Given the description of an element on the screen output the (x, y) to click on. 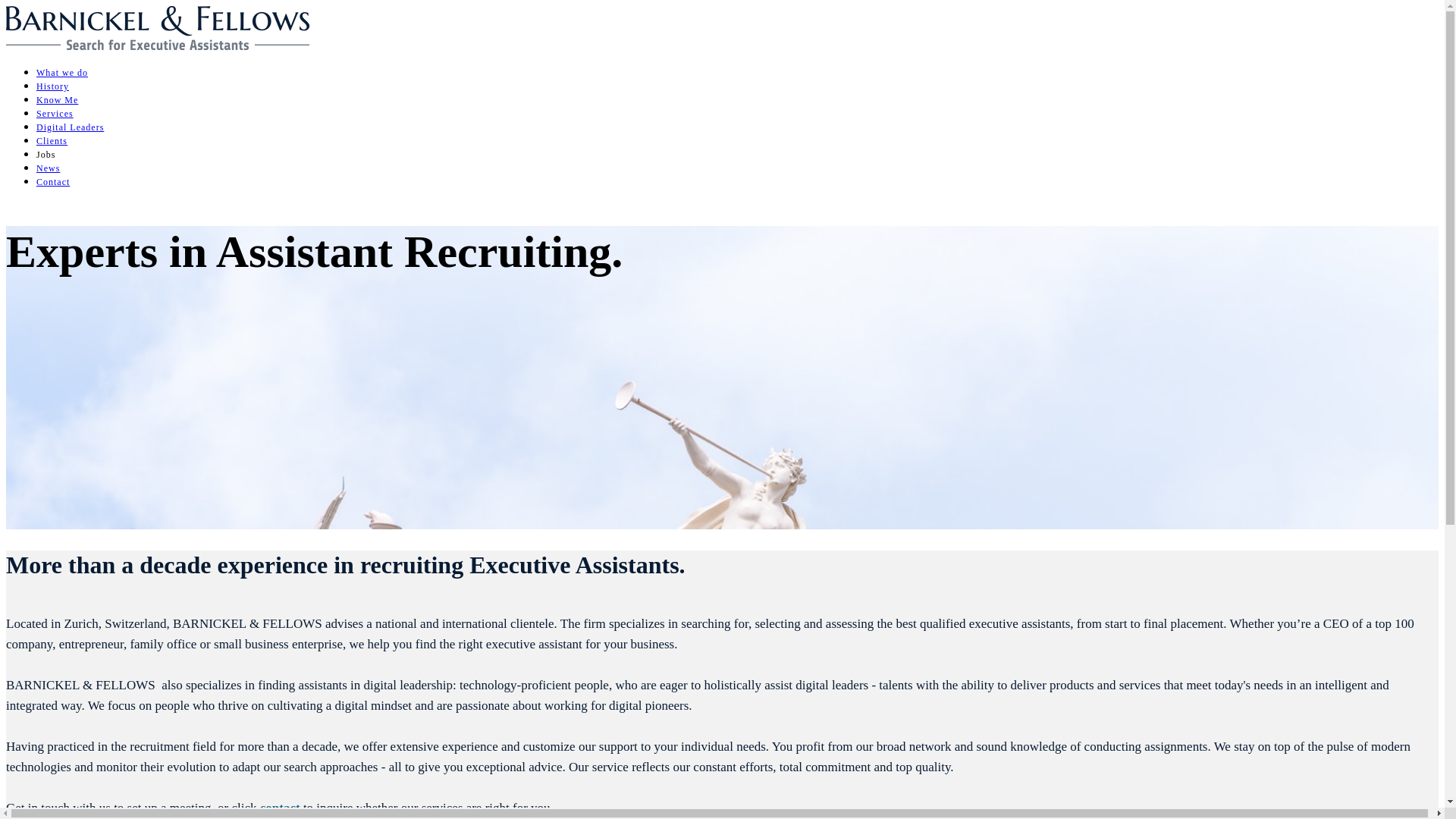
History Element type: text (52, 86)
What we do Element type: text (61, 72)
Jobs Element type: text (45, 154)
contact Element type: text (280, 807)
News Element type: text (47, 168)
Services Element type: text (54, 113)
Contact Element type: text (52, 181)
Clients Element type: text (51, 140)
Know Me Element type: text (57, 99)
Digital Leaders Element type: text (69, 127)
